Given the description of an element on the screen output the (x, y) to click on. 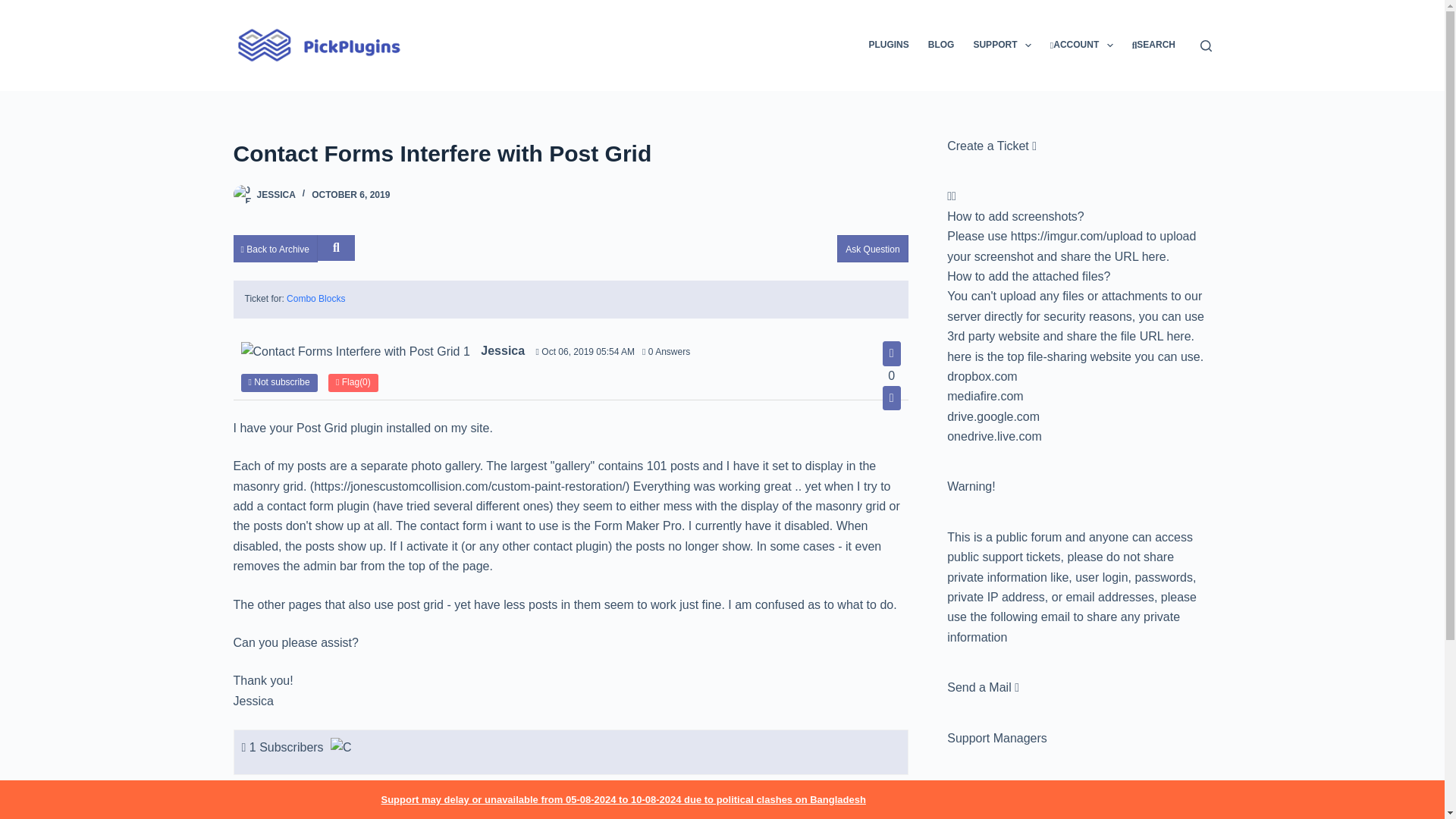
Posts by Jessica (275, 194)
Jessica (341, 748)
Skip to content (15, 7)
Contact Forms Interfere with Post Grid 1 (355, 351)
ACCOUNT (1081, 45)
Contact Forms Interfere with Post Grid (570, 153)
